Given the description of an element on the screen output the (x, y) to click on. 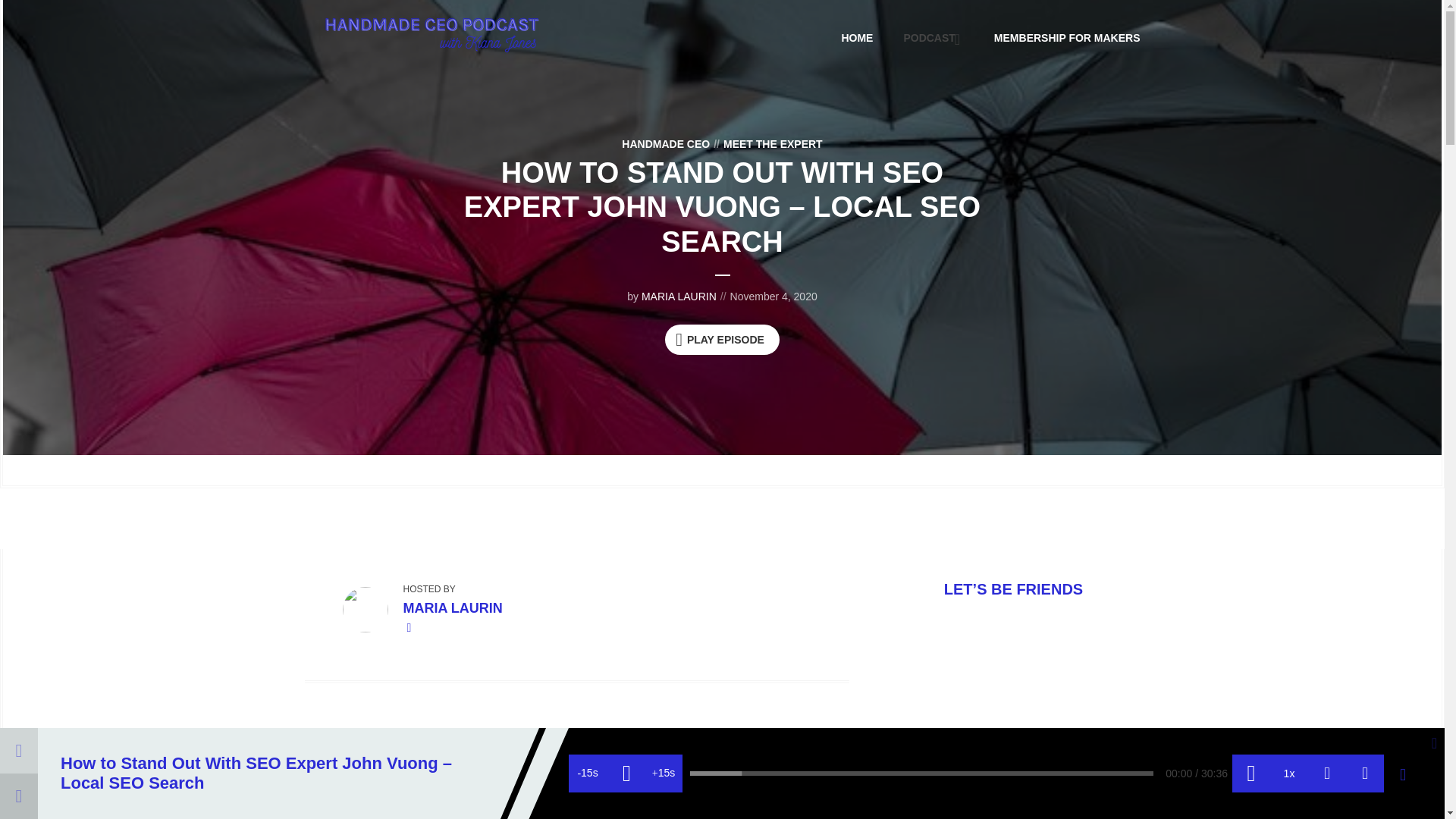
MEMBERSHIP FOR MAKERS (1067, 37)
Play (626, 773)
Jump forward 15 seconds (663, 773)
share (1364, 773)
PODCAST (932, 37)
MARIA LAURIN (679, 296)
MARIA LAURIN (452, 607)
Mute (1250, 773)
Subscribe (1326, 773)
PLAY EPISODE (721, 339)
Speed Rate (1288, 773)
Skip back 15 seconds (588, 773)
HANDMADE CEO (665, 143)
MEET THE EXPERT (766, 143)
